Given the description of an element on the screen output the (x, y) to click on. 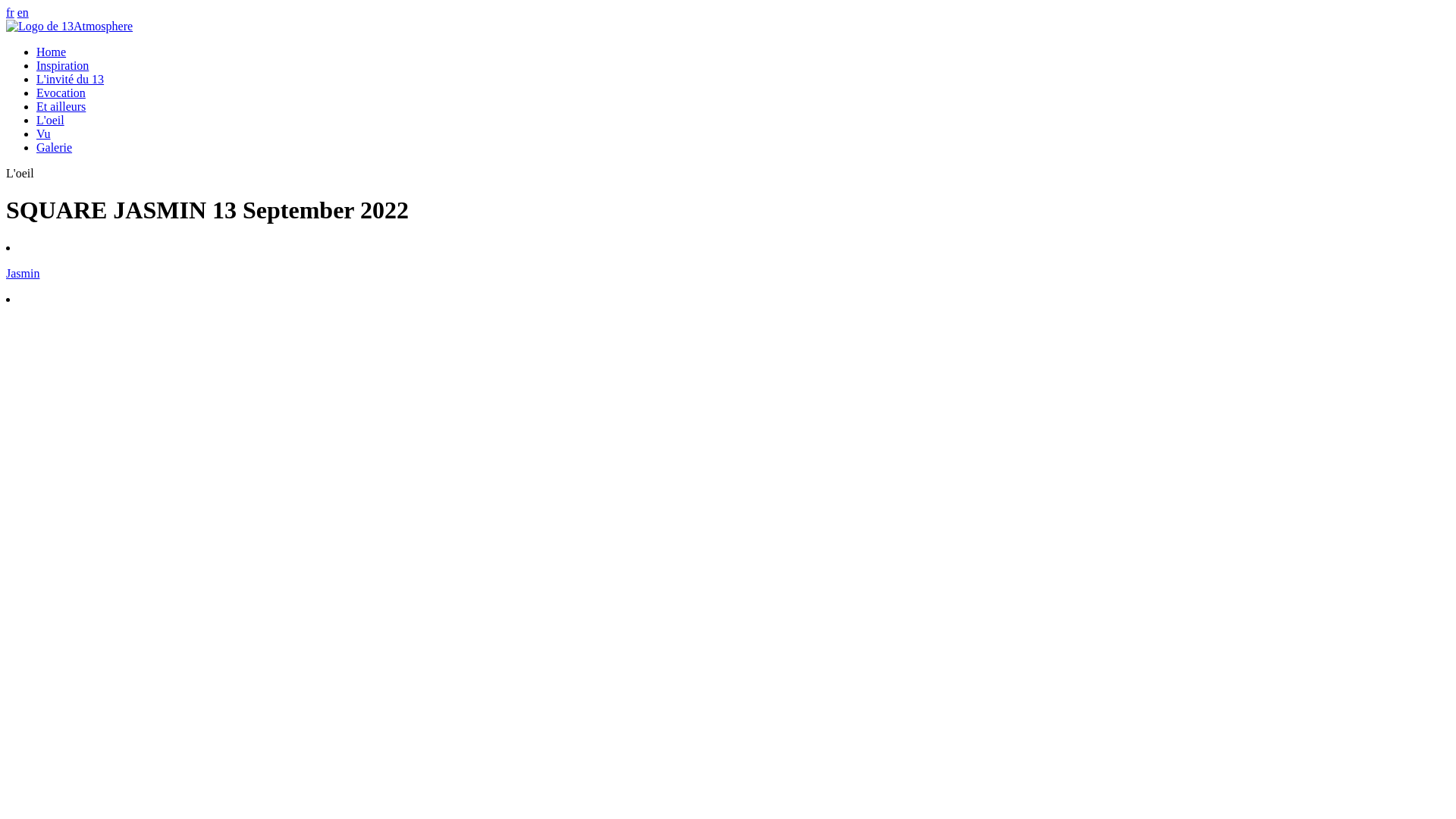
Home Element type: text (50, 51)
fr Element type: text (10, 12)
Jasmin Element type: text (727, 286)
Inspiration Element type: text (62, 65)
en Element type: text (22, 12)
Et ailleurs Element type: text (60, 106)
Galerie Element type: text (54, 147)
Vu Element type: text (43, 133)
L'oeil Element type: text (50, 119)
Evocation Element type: text (60, 92)
